Given the description of an element on the screen output the (x, y) to click on. 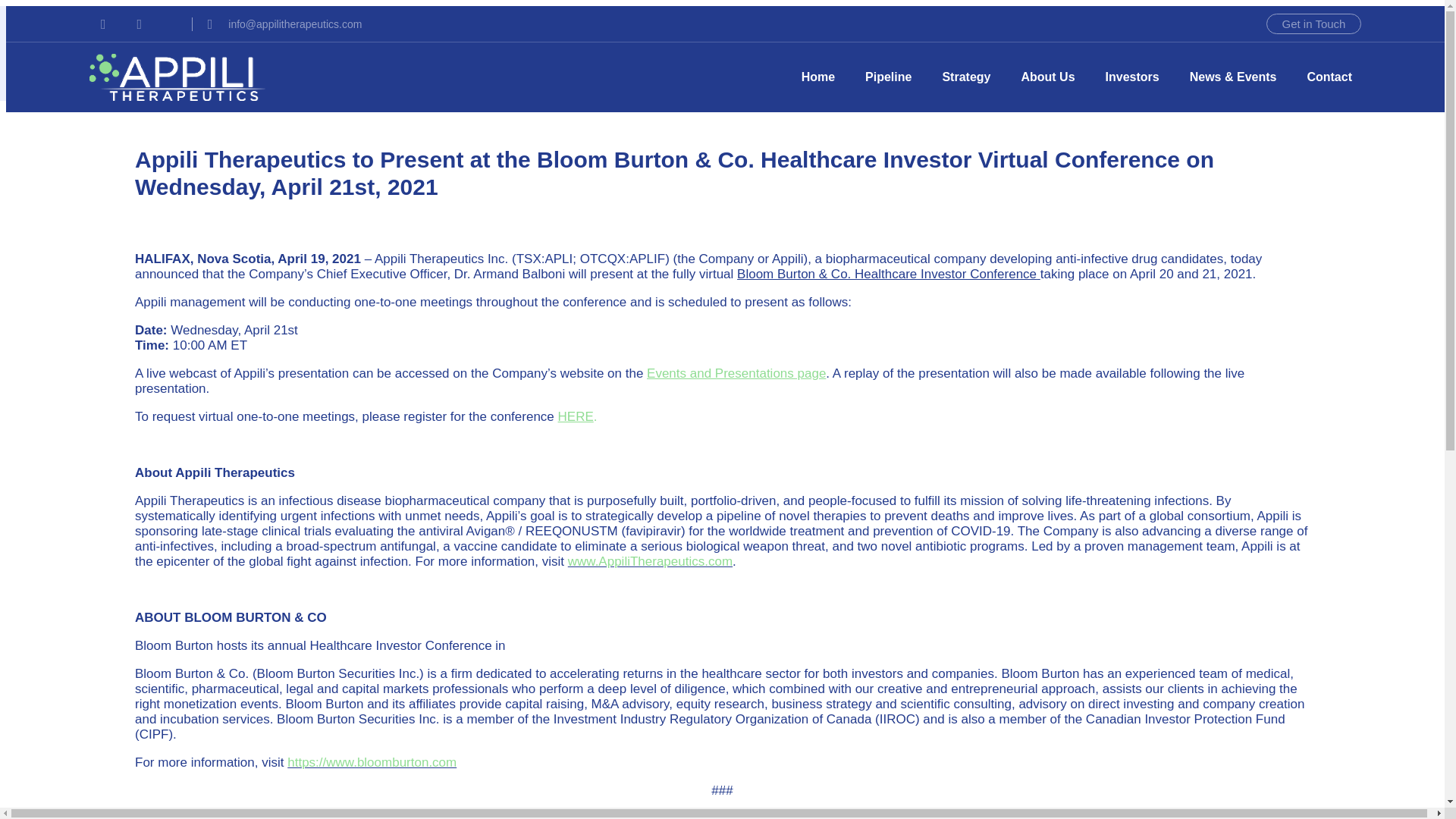
Home (818, 77)
Pipeline (888, 77)
HERE. (1307, 65)
www.AppiliTherapeutics.com (1137, 65)
Strategy (576, 416)
Contact (649, 561)
Events and Presentations page (966, 77)
